Given the description of an element on the screen output the (x, y) to click on. 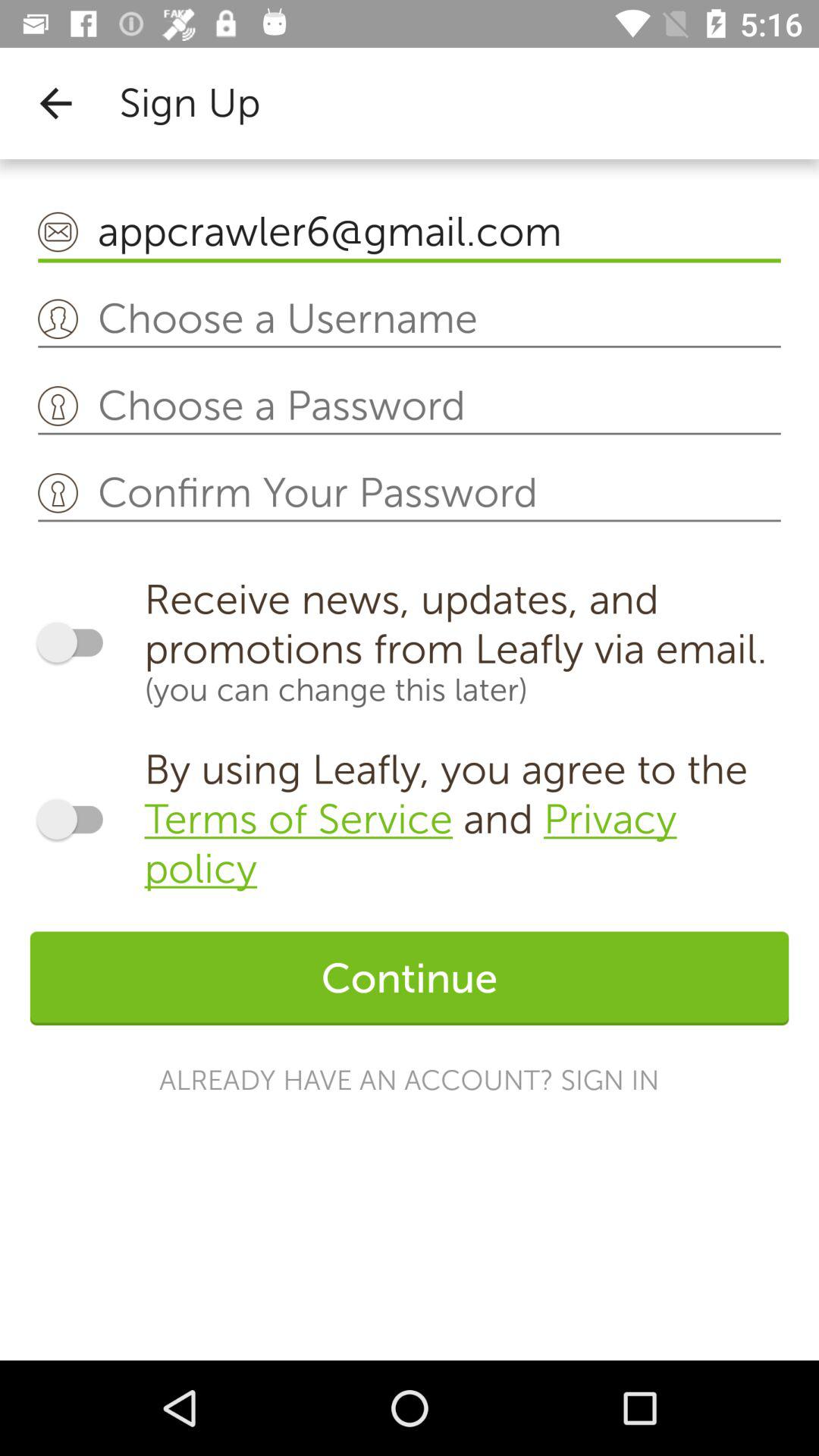
jump to the appcrawler6@gmail.com (409, 232)
